Given the description of an element on the screen output the (x, y) to click on. 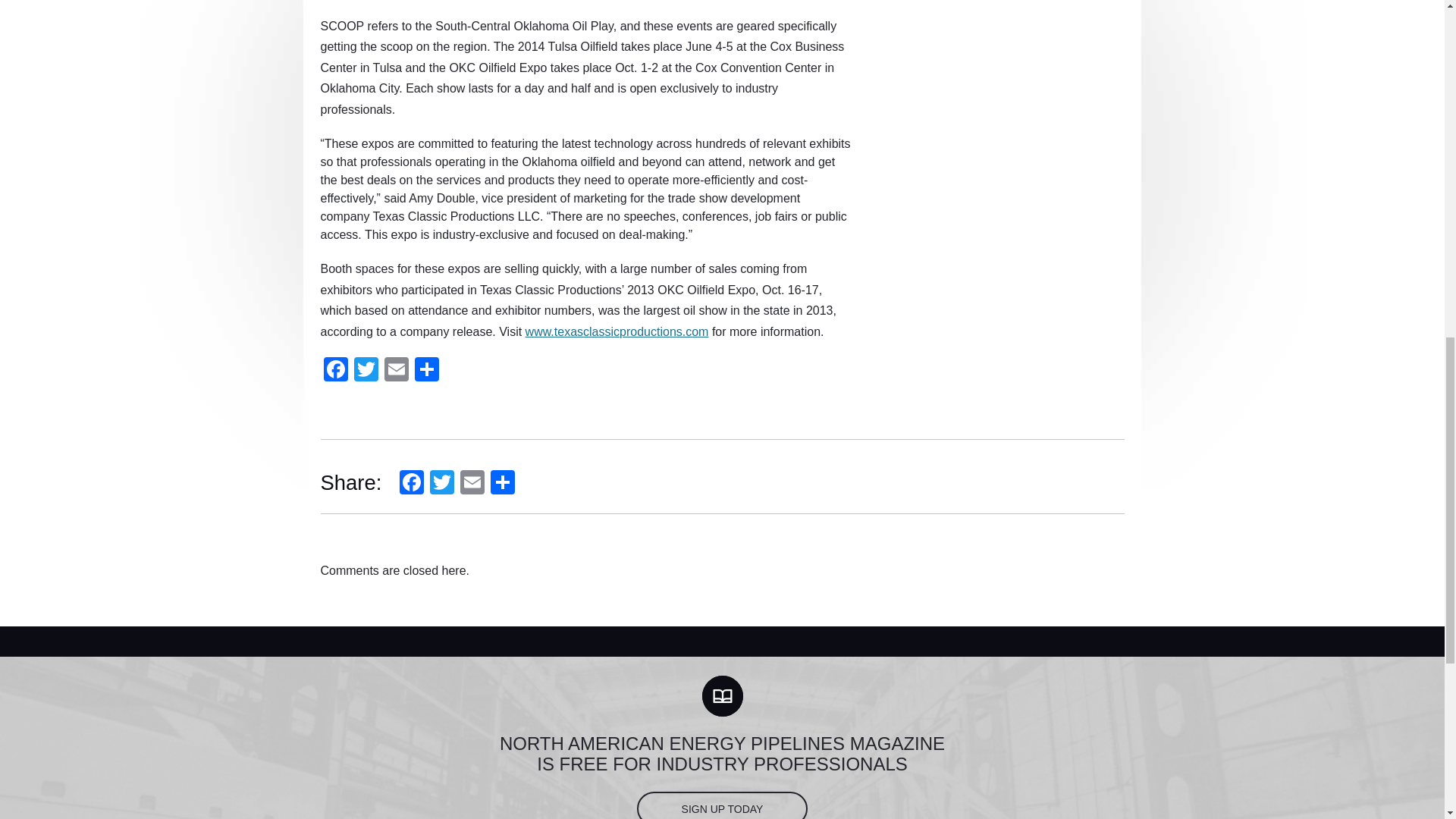
Email (395, 369)
Share (502, 482)
Email (395, 369)
Email (472, 482)
Twitter (365, 369)
Facebook (335, 369)
Facebook (411, 482)
Email (472, 482)
Facebook (411, 482)
Twitter (441, 482)
Twitter (365, 369)
www.texasclassicproductions.com (617, 331)
SIGN UP TODAY (722, 805)
Twitter (441, 482)
Share (425, 369)
